Given the description of an element on the screen output the (x, y) to click on. 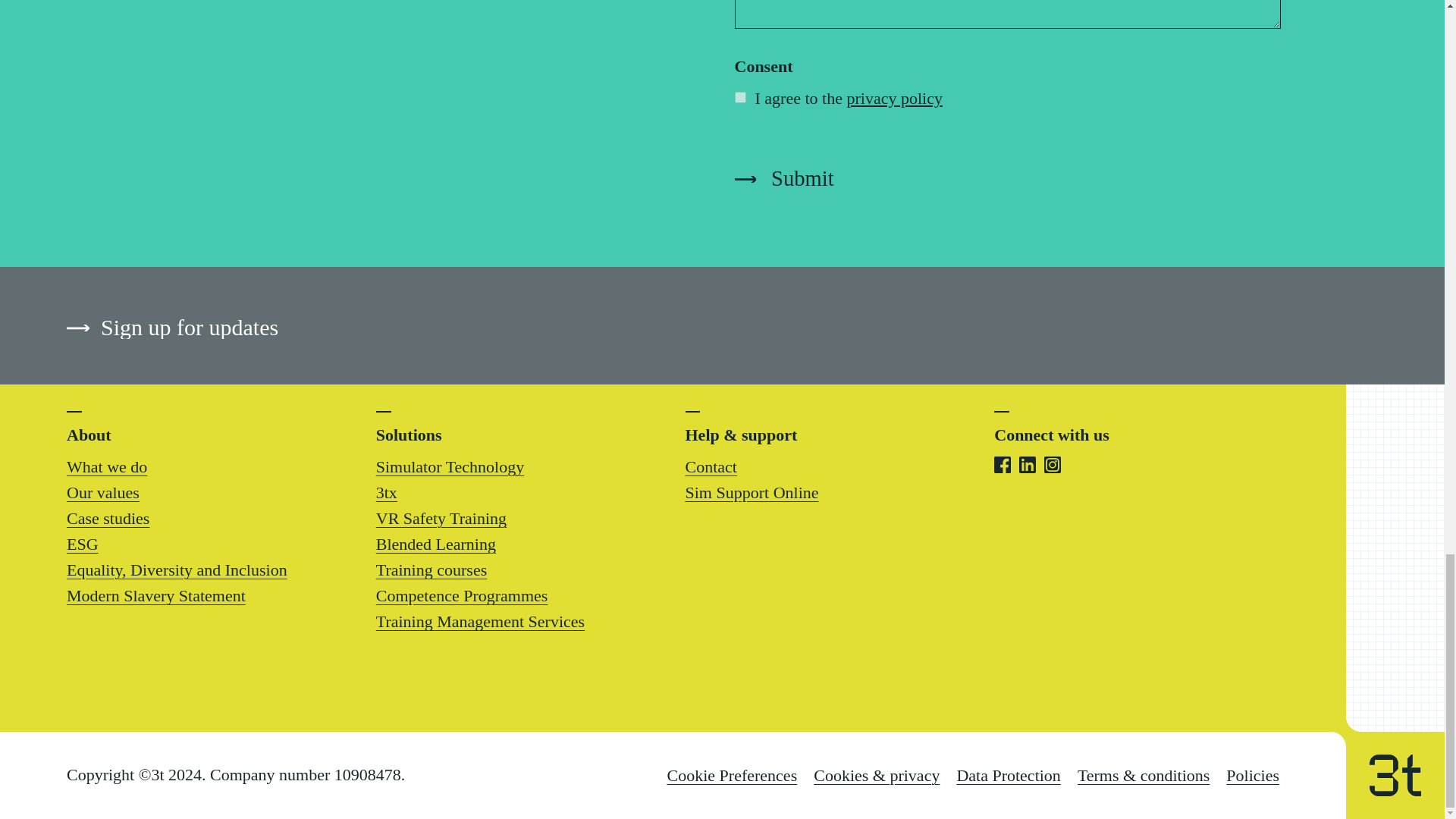
1 (739, 97)
